Given the description of an element on the screen output the (x, y) to click on. 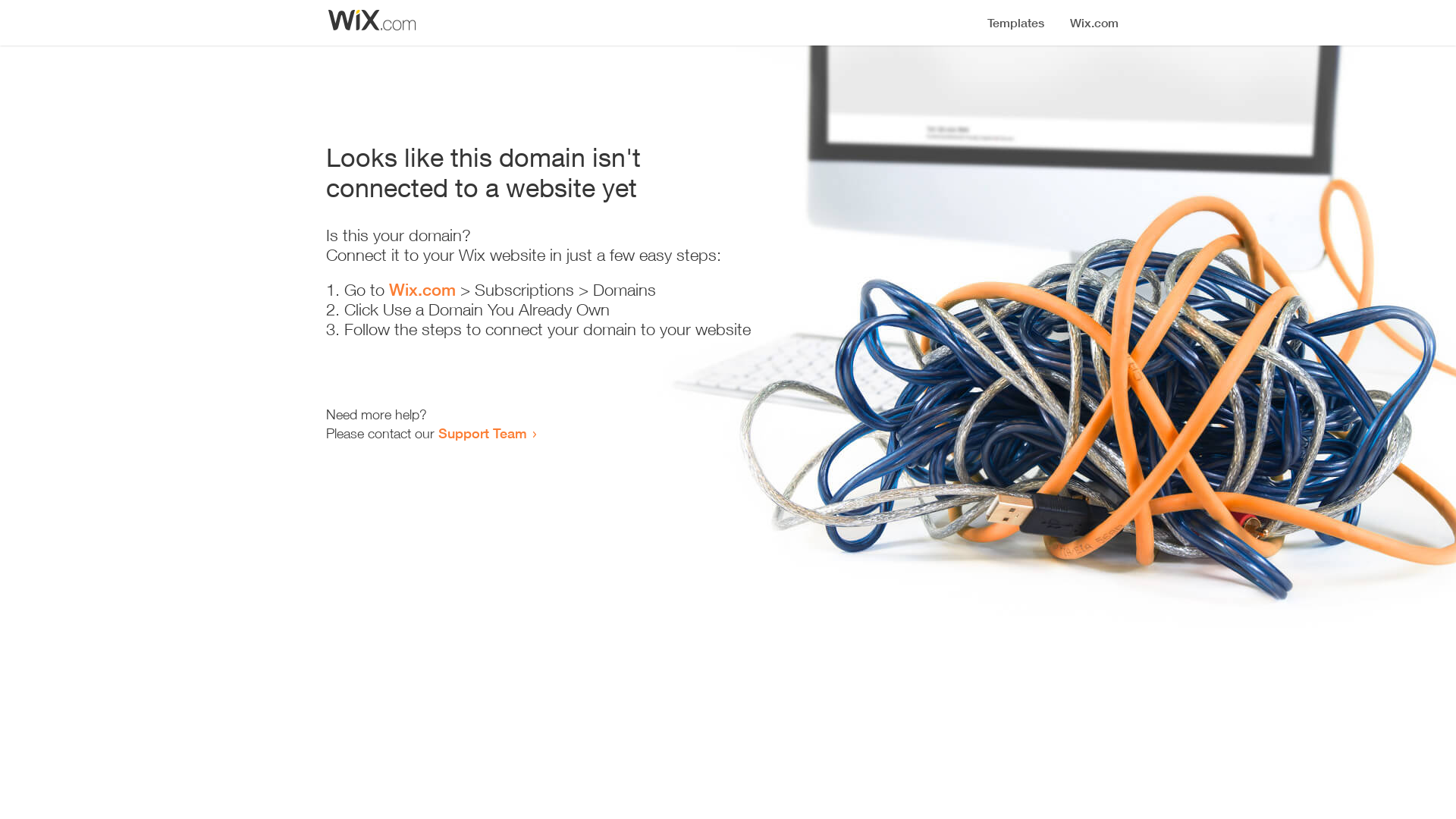
Wix.com Element type: text (422, 289)
Support Team Element type: text (482, 432)
